Given the description of an element on the screen output the (x, y) to click on. 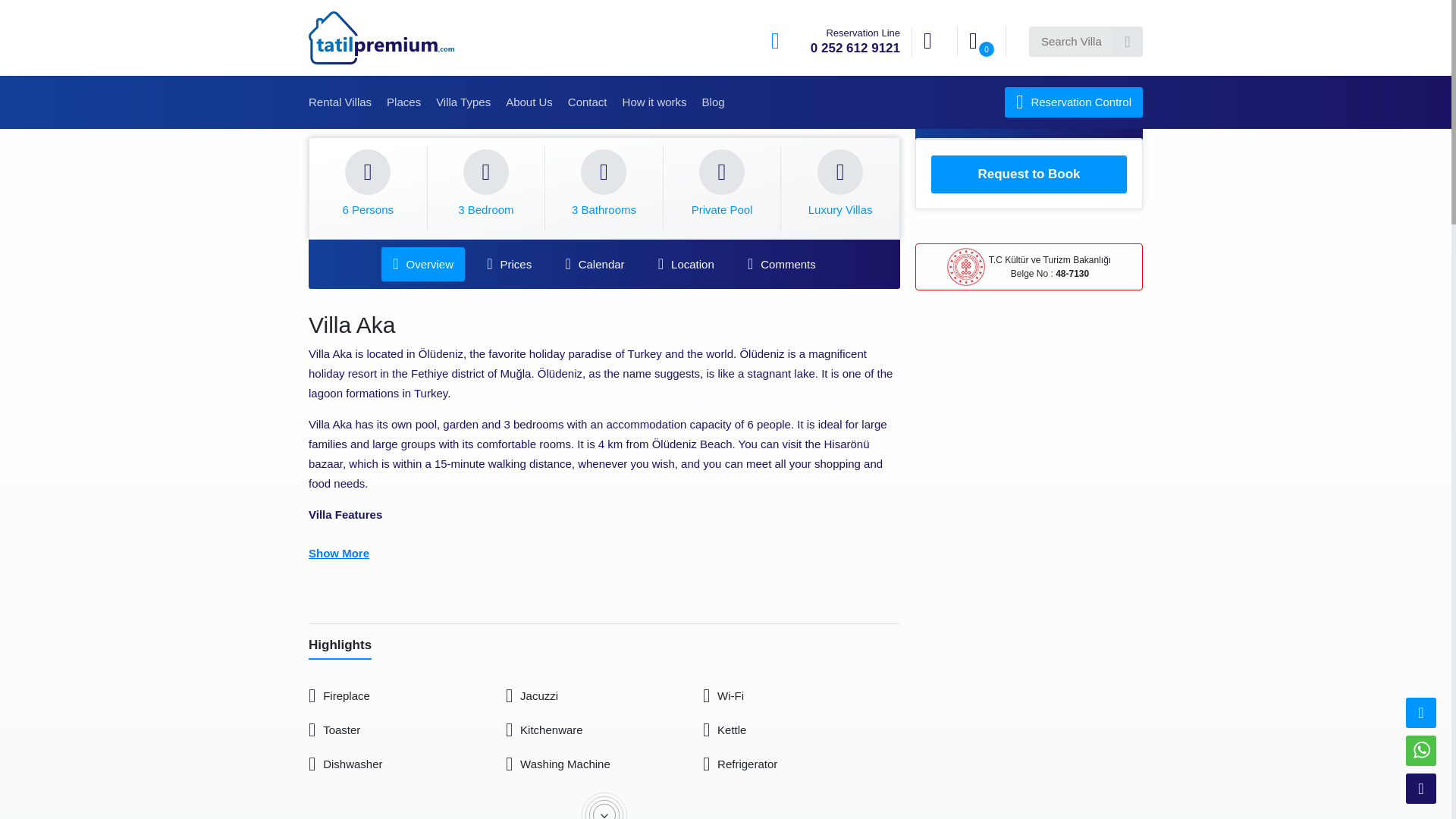
SHOW ALL OF THEM (603, 805)
Overview (422, 264)
Reservation Control (1073, 101)
Location (685, 264)
Rental Villas (339, 101)
Tatil Premium (384, 37)
Calendar (593, 264)
Overview (422, 264)
Show More (603, 553)
Prices (509, 264)
Location (685, 264)
Customer service (835, 41)
Places (403, 101)
About Us (529, 101)
How it works (655, 101)
